Given the description of an element on the screen output the (x, y) to click on. 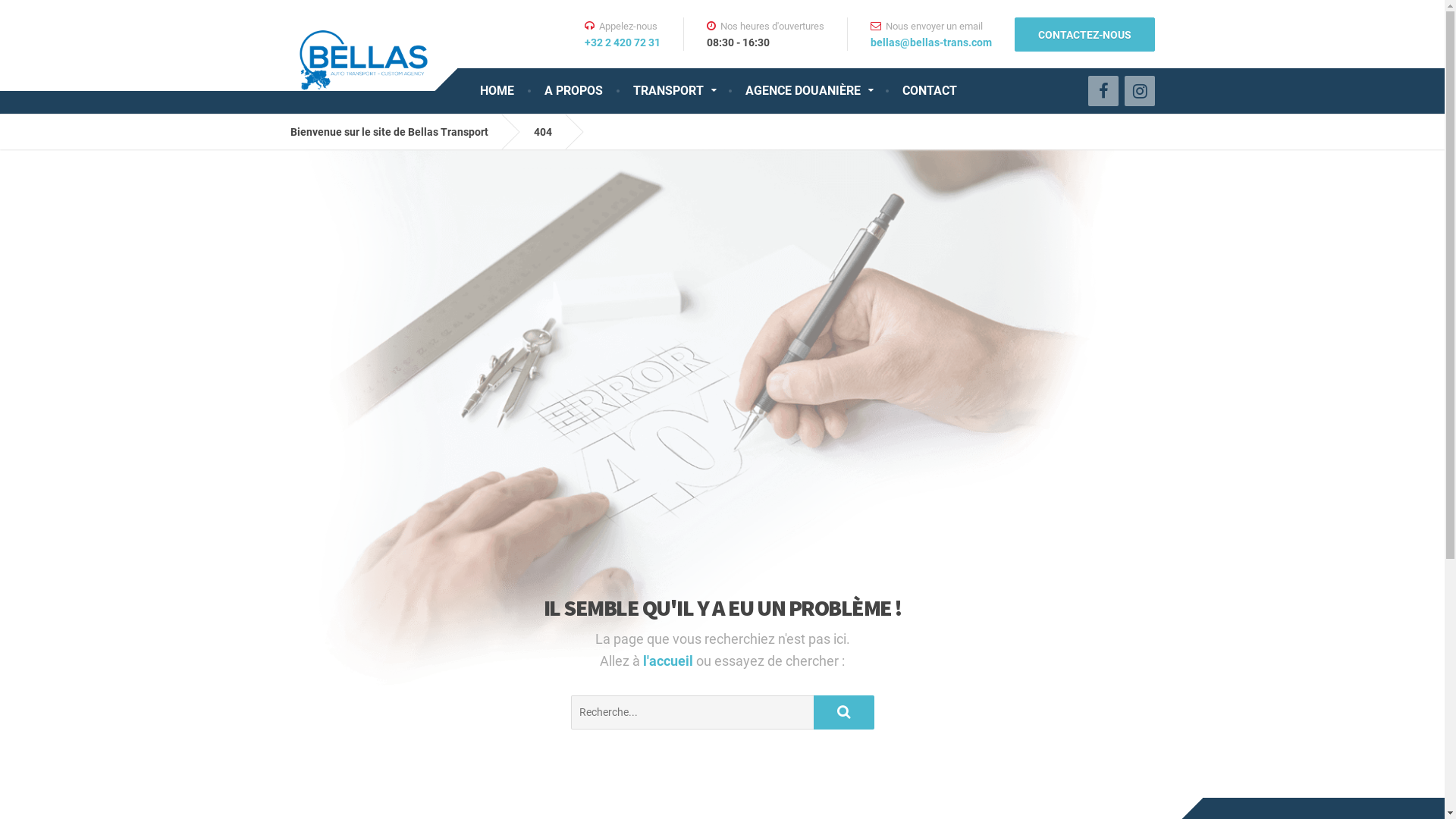
bellas@bellas-trans.com Element type: text (930, 42)
Bienvenue sur le site de Bellas Transport Element type: text (399, 131)
CONTACTEZ-NOUS Element type: text (1084, 33)
TRANSPORT Element type: text (673, 90)
+32 2 420 72 31 Element type: text (621, 42)
CONTACT Element type: text (929, 90)
HOME Element type: text (496, 90)
l'accueil Element type: text (669, 660)
A PROPOS Element type: text (573, 90)
404 Element type: text (553, 131)
